Given the description of an element on the screen output the (x, y) to click on. 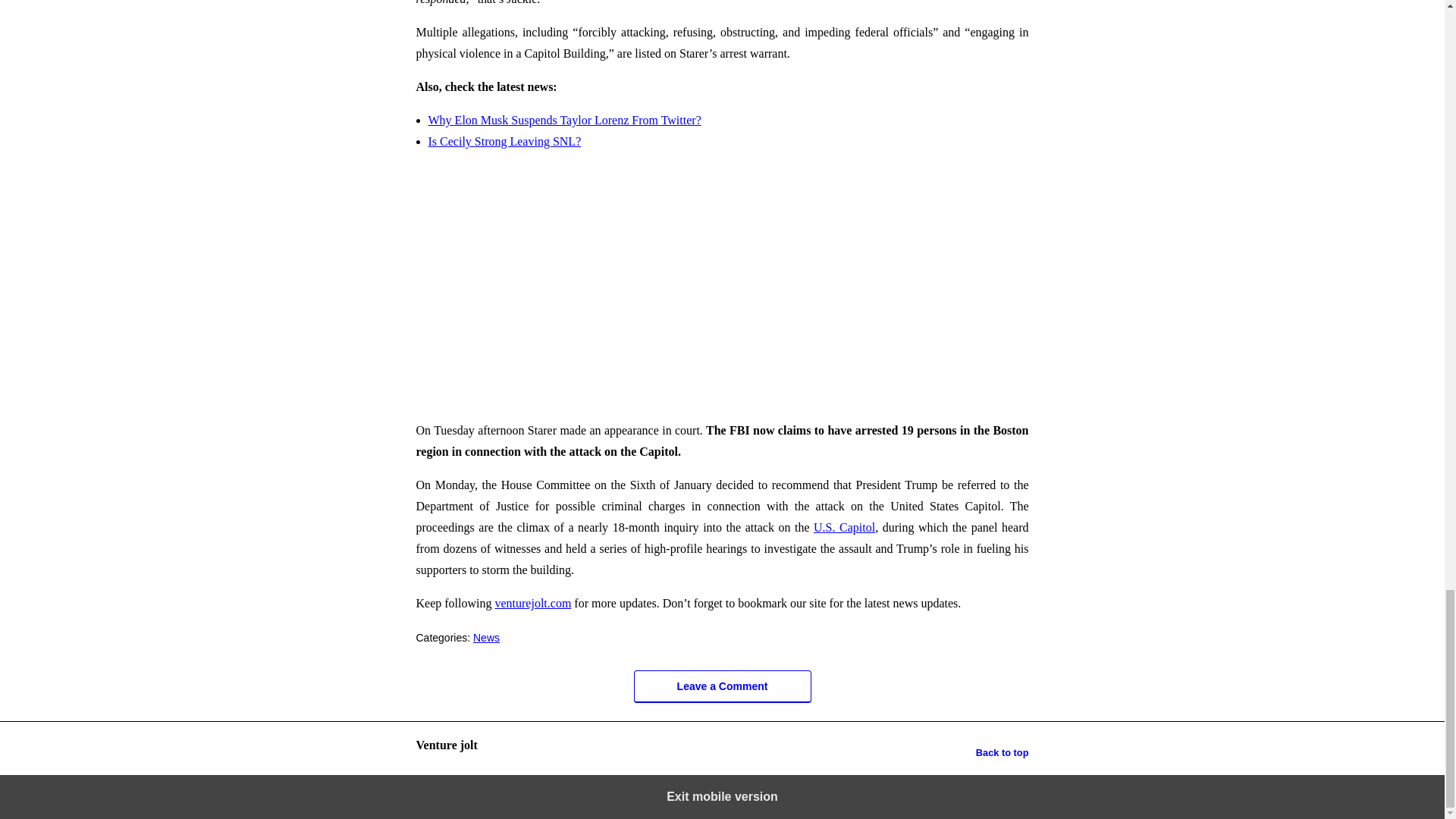
Why Elon Musk Suspends Taylor Lorenz From Twitter? (564, 119)
venturejolt.com (532, 603)
Is Cecily Strong Leaving SNL? (504, 141)
Back to top (1002, 752)
Leave a Comment (721, 686)
U.S. Capitol (844, 526)
News (486, 637)
